Given the description of an element on the screen output the (x, y) to click on. 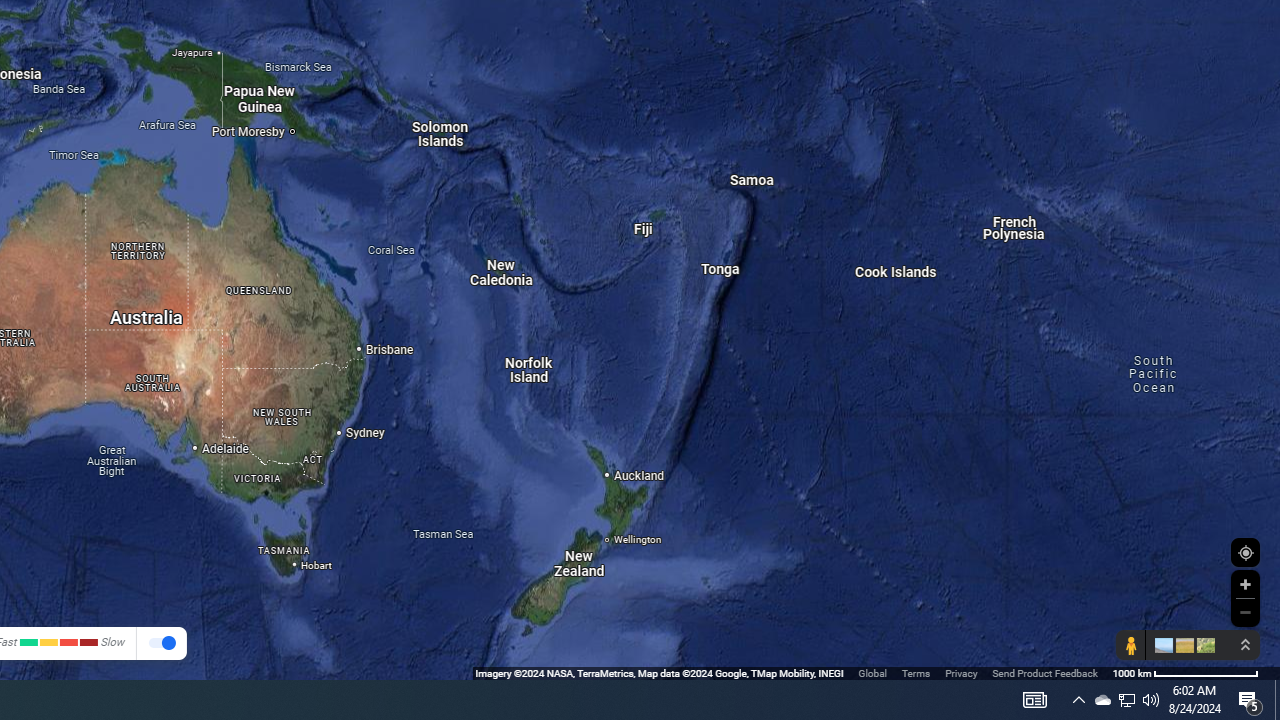
Show Street View coverage (1130, 645)
Zoom in (1245, 584)
 Show traffic  (162, 643)
Show Your Location (1245, 552)
Global (872, 672)
Show imagery (1202, 645)
1000 km (1185, 672)
Send Product Feedback (1045, 672)
Zoom out (1245, 612)
